Given the description of an element on the screen output the (x, y) to click on. 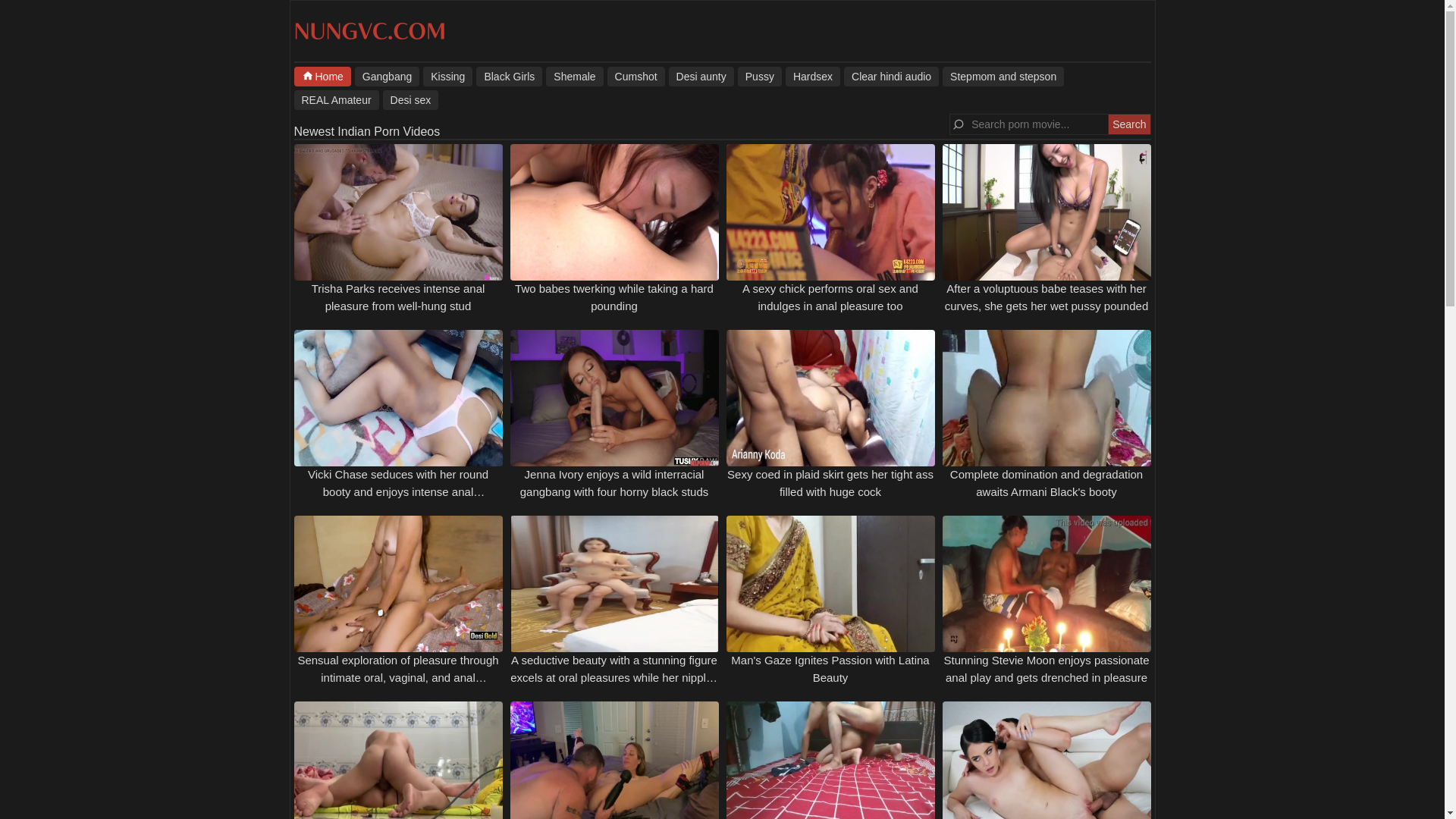
Black Girls (508, 76)
Desi aunty (700, 76)
Cumshot (636, 76)
Shemale (574, 76)
Shemale (574, 76)
